Given the description of an element on the screen output the (x, y) to click on. 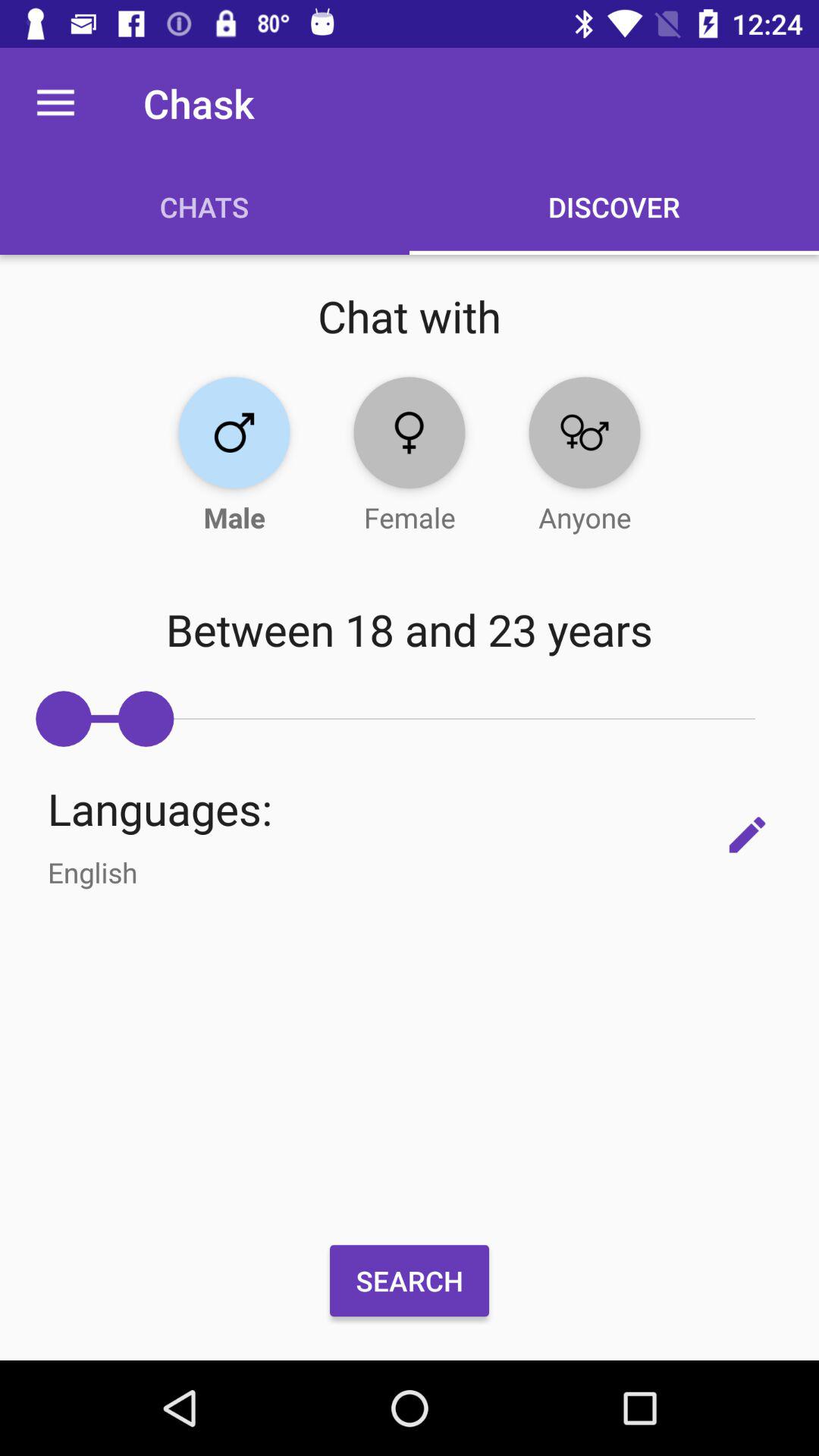
turn on the search item (409, 1280)
